Given the description of an element on the screen output the (x, y) to click on. 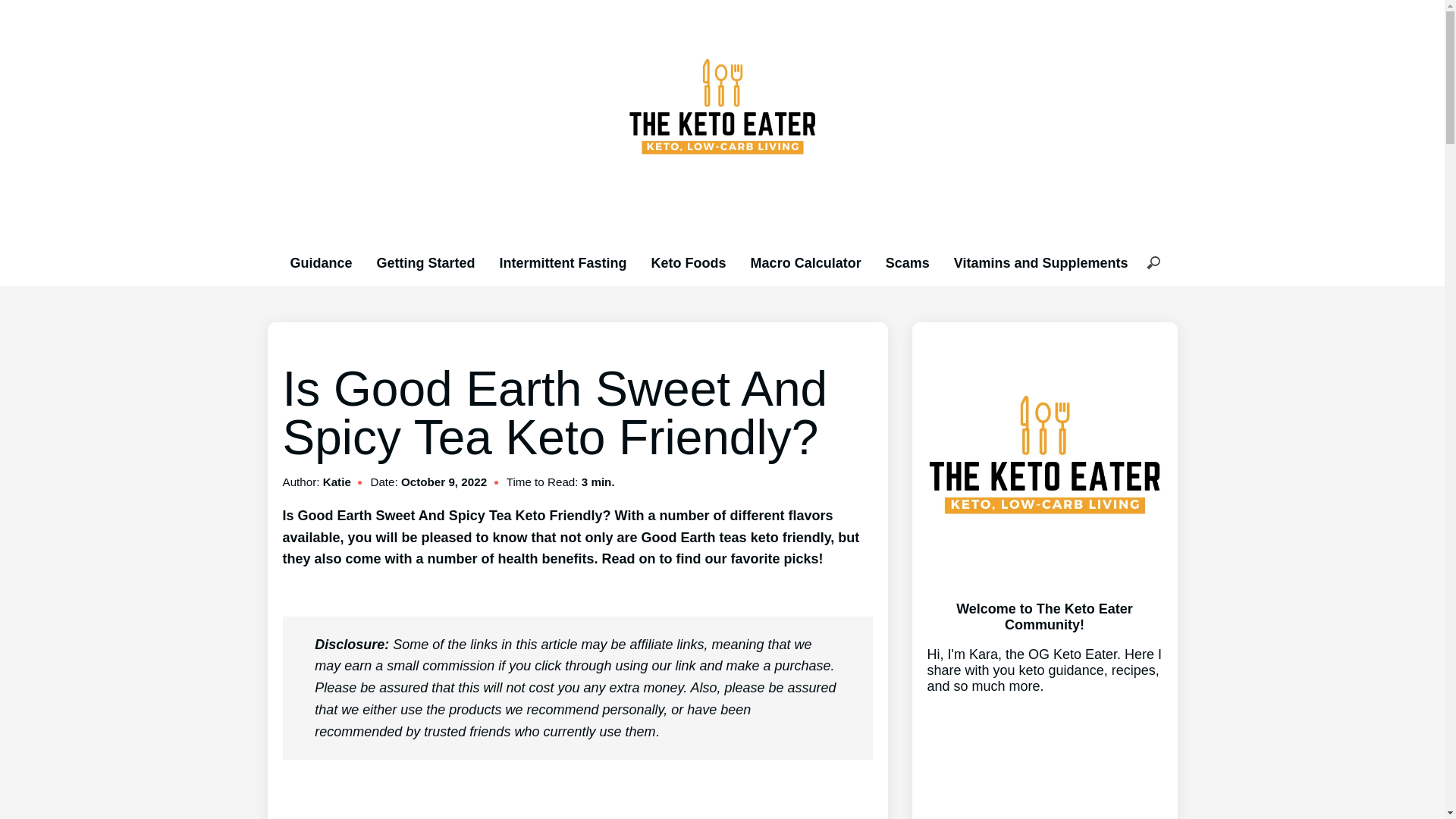
Scams (907, 263)
Macro Calculator (806, 263)
Search for: (1153, 263)
Getting Started (426, 263)
Guidance (320, 263)
Intermittent Fasting (563, 263)
Keto Foods (688, 263)
Vitamins and Supplements (1040, 263)
